Given the description of an element on the screen output the (x, y) to click on. 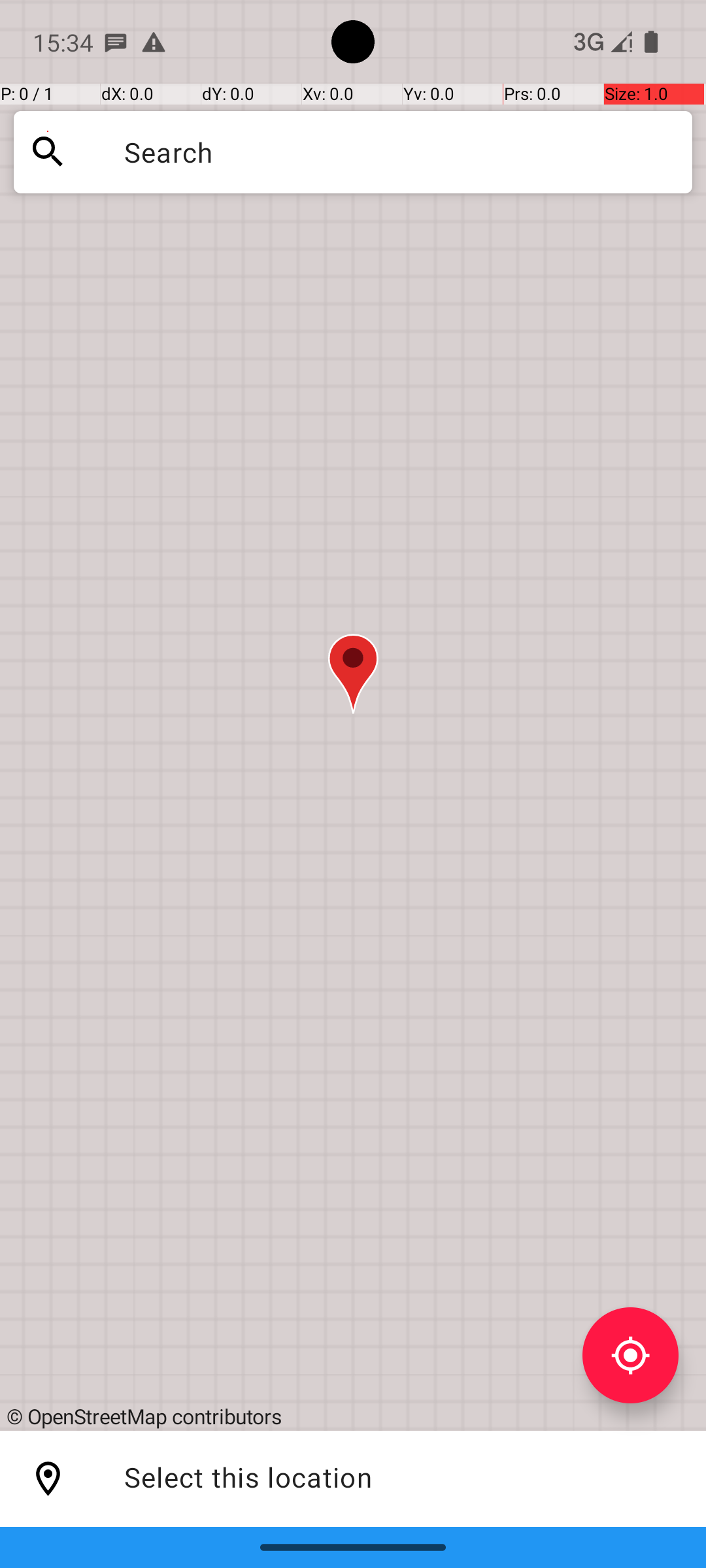
Select this location Element type: android.widget.ImageView (47, 1478)
